Given the description of an element on the screen output the (x, y) to click on. 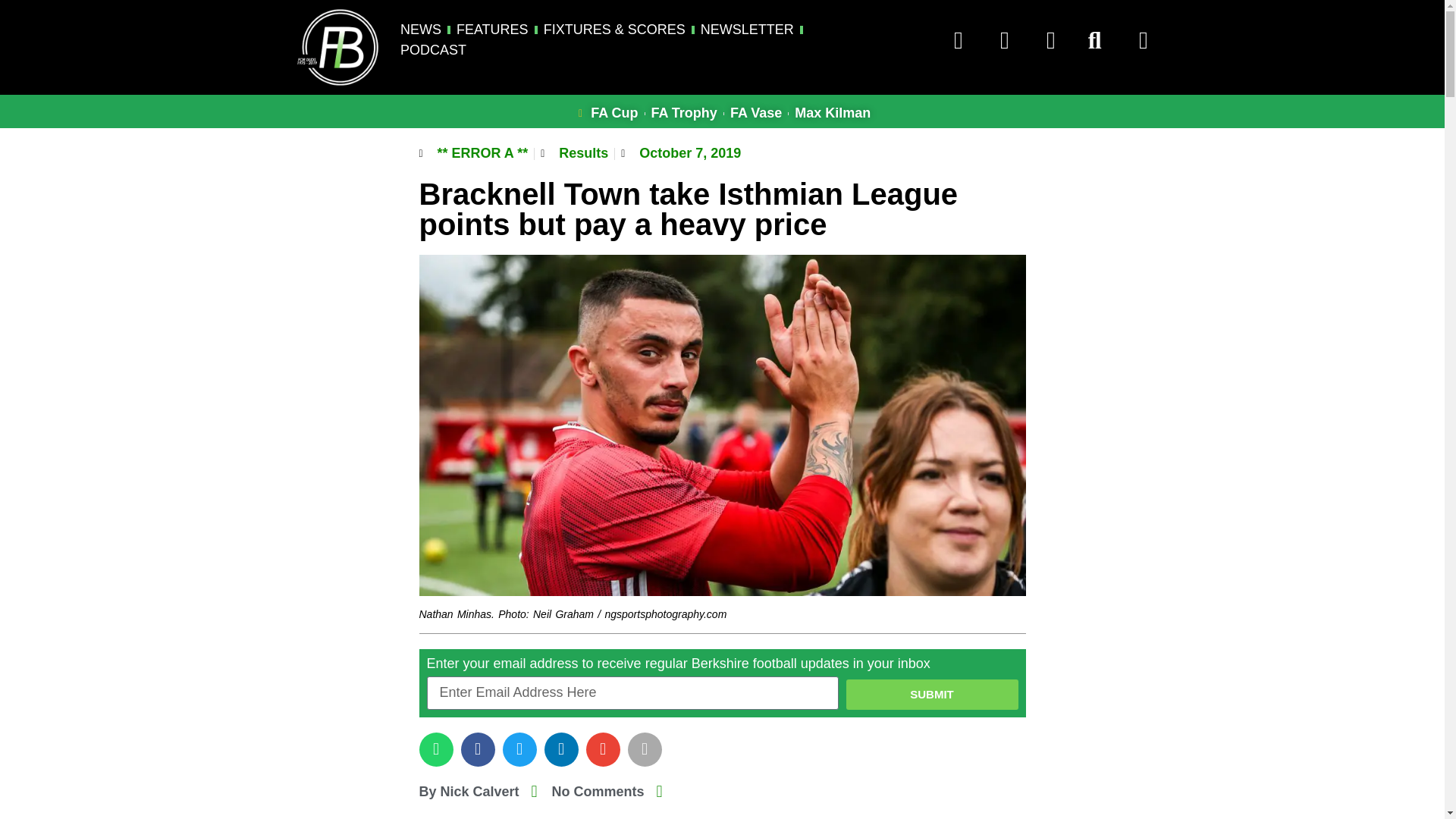
FEATURES (492, 29)
NEWSLETTER (746, 29)
FA Vase (755, 113)
SUBMIT (931, 694)
By Nick Calvert (468, 792)
October 7, 2019 (681, 153)
Results (583, 152)
FA Trophy (683, 113)
No Comments (588, 792)
NEWS (420, 29)
PODCAST (432, 50)
Max Kilman (832, 113)
FA Cup (606, 113)
